Given the description of an element on the screen output the (x, y) to click on. 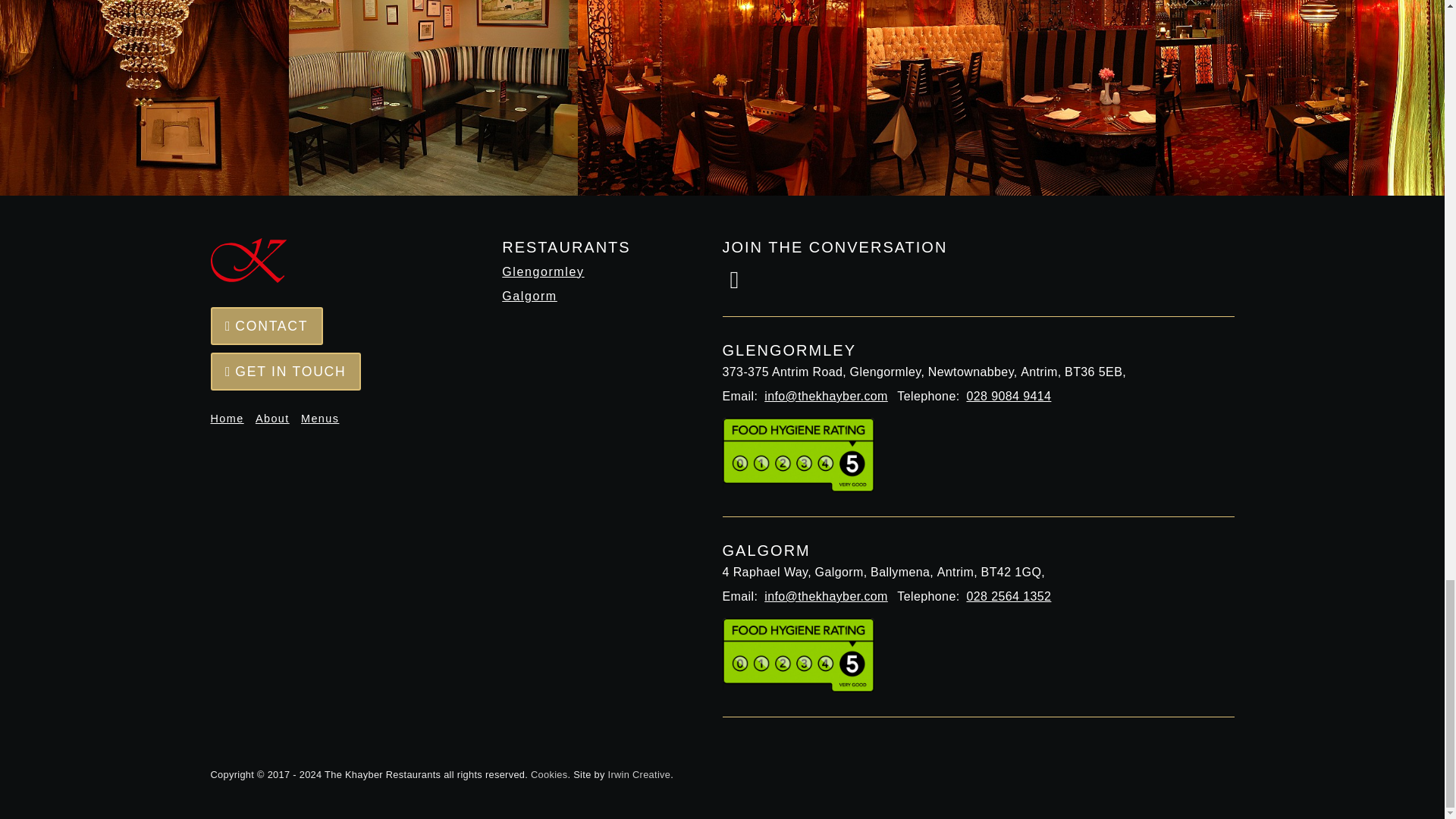
Home (231, 419)
Galgorm (593, 296)
CONTACT (267, 325)
GET IN TOUCH (286, 371)
Irwin Creative (639, 774)
About (277, 419)
Go to google maps (977, 359)
Cookie policy (549, 774)
Glengormley (593, 272)
The Khayber Restaurants (248, 260)
Menus (324, 419)
Go to google maps (977, 559)
